Given the description of an element on the screen output the (x, y) to click on. 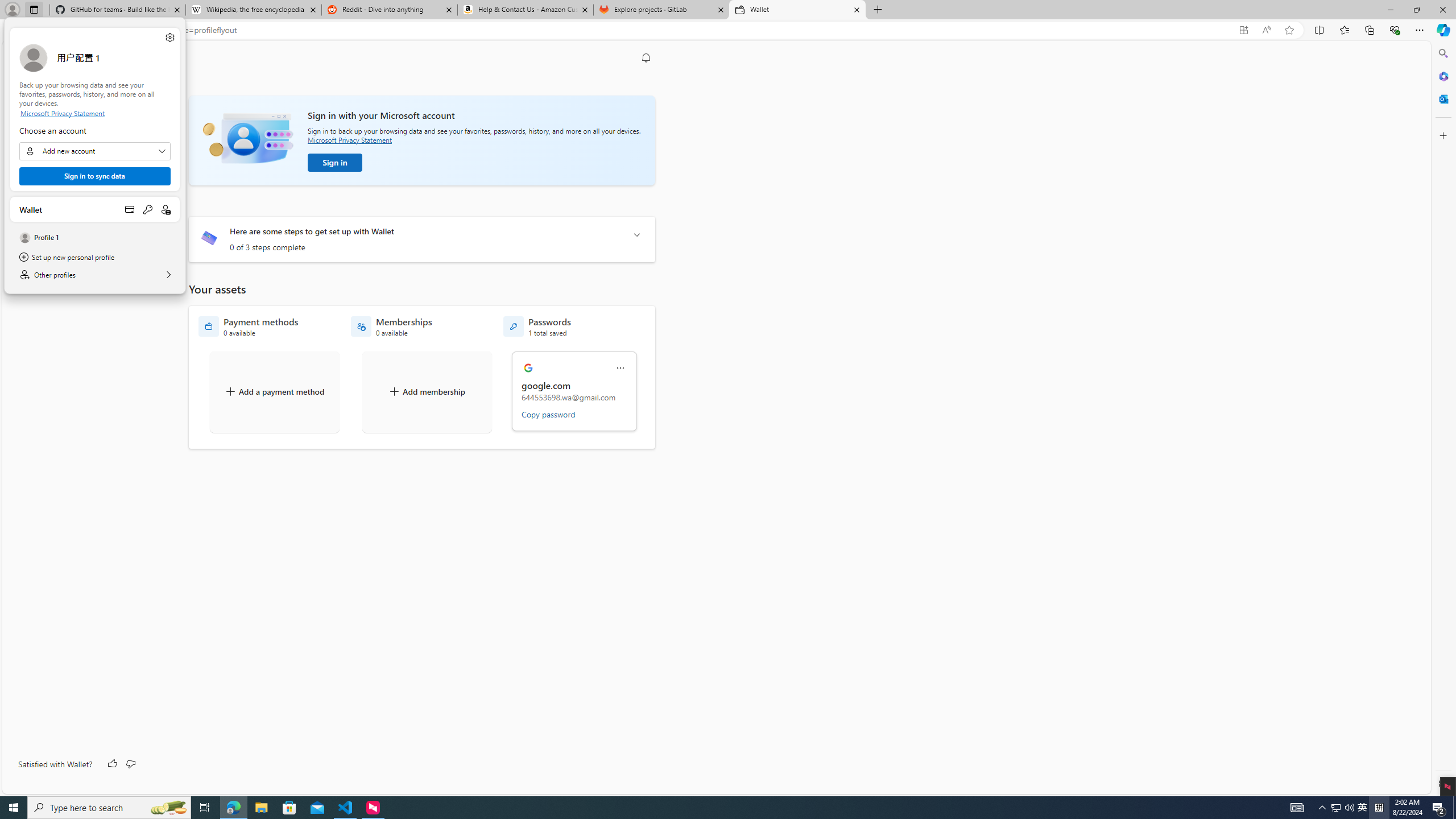
Action Center, 2 new notifications (1439, 807)
Sign in (334, 162)
Running applications (707, 807)
Copy password (548, 414)
App available. Install Microsoft Wallet (1243, 29)
Add a payment method (274, 391)
Microsoft Store (289, 807)
